Given the description of an element on the screen output the (x, y) to click on. 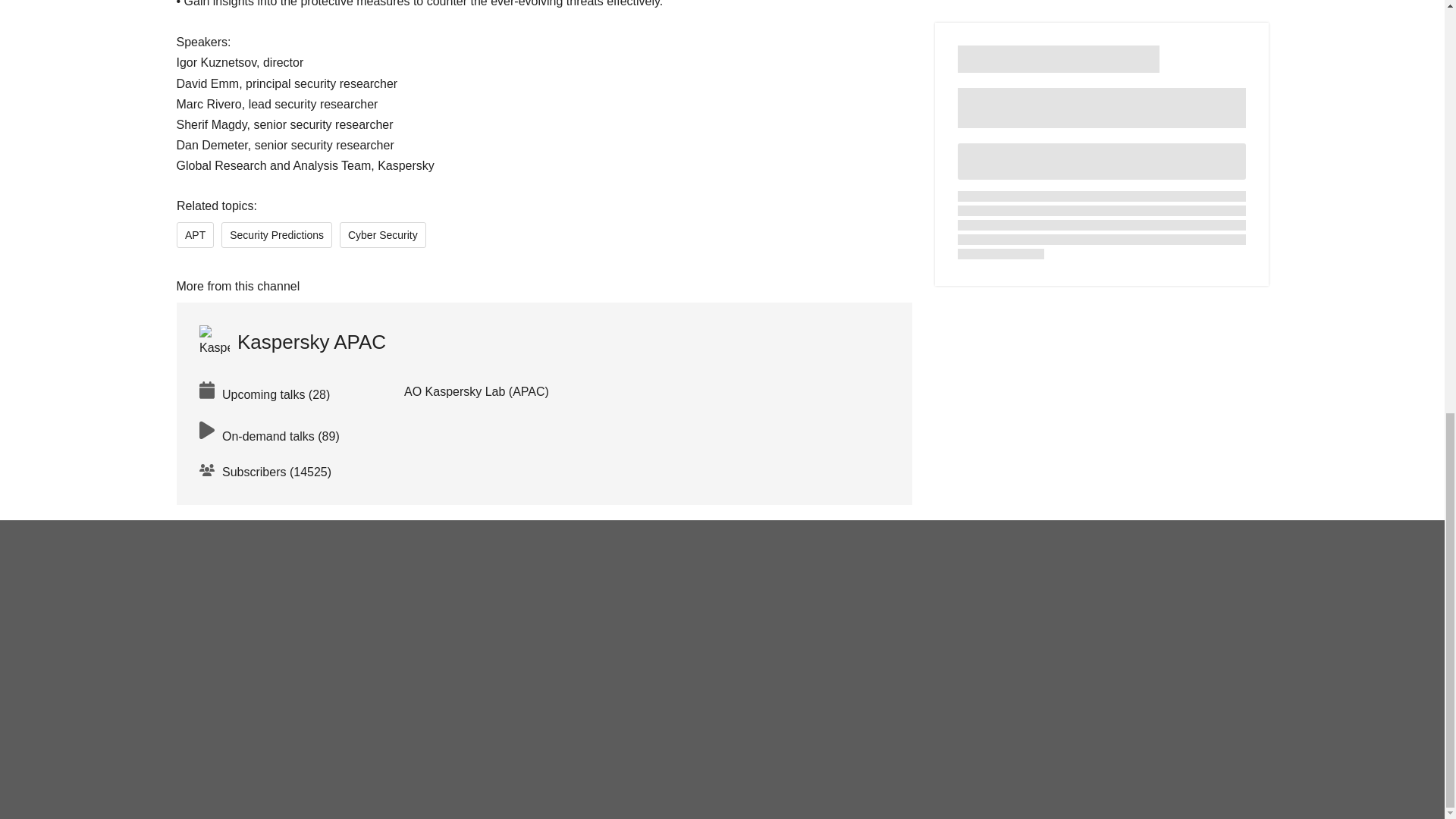
Kaspersky APAC (291, 341)
Visit Kaspersky APAC's channel (291, 341)
Cyber Security (382, 235)
Security Predictions (276, 235)
APT (194, 235)
